Given the description of an element on the screen output the (x, y) to click on. 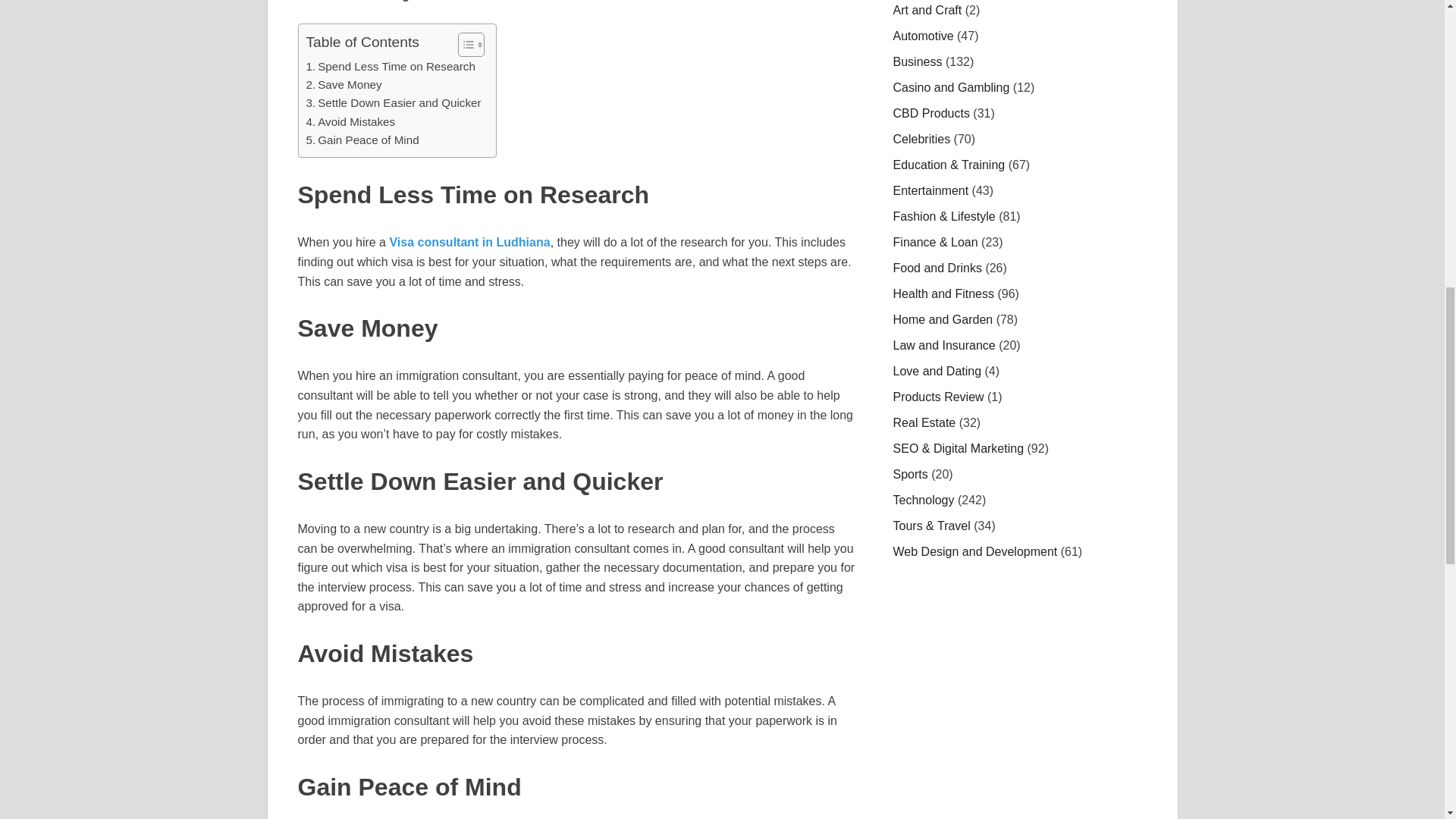
Save Money (343, 85)
Settle Down Easier and Quicker (393, 103)
Gain Peace of Mind (362, 140)
Spend Less Time on Research (390, 66)
Avoid Mistakes (350, 122)
Gain Peace of Mind (362, 140)
Visa consultant in Ludhiana (469, 241)
Spend Less Time on Research (390, 66)
Save Money (343, 85)
Avoid Mistakes (350, 122)
